Given the description of an element on the screen output the (x, y) to click on. 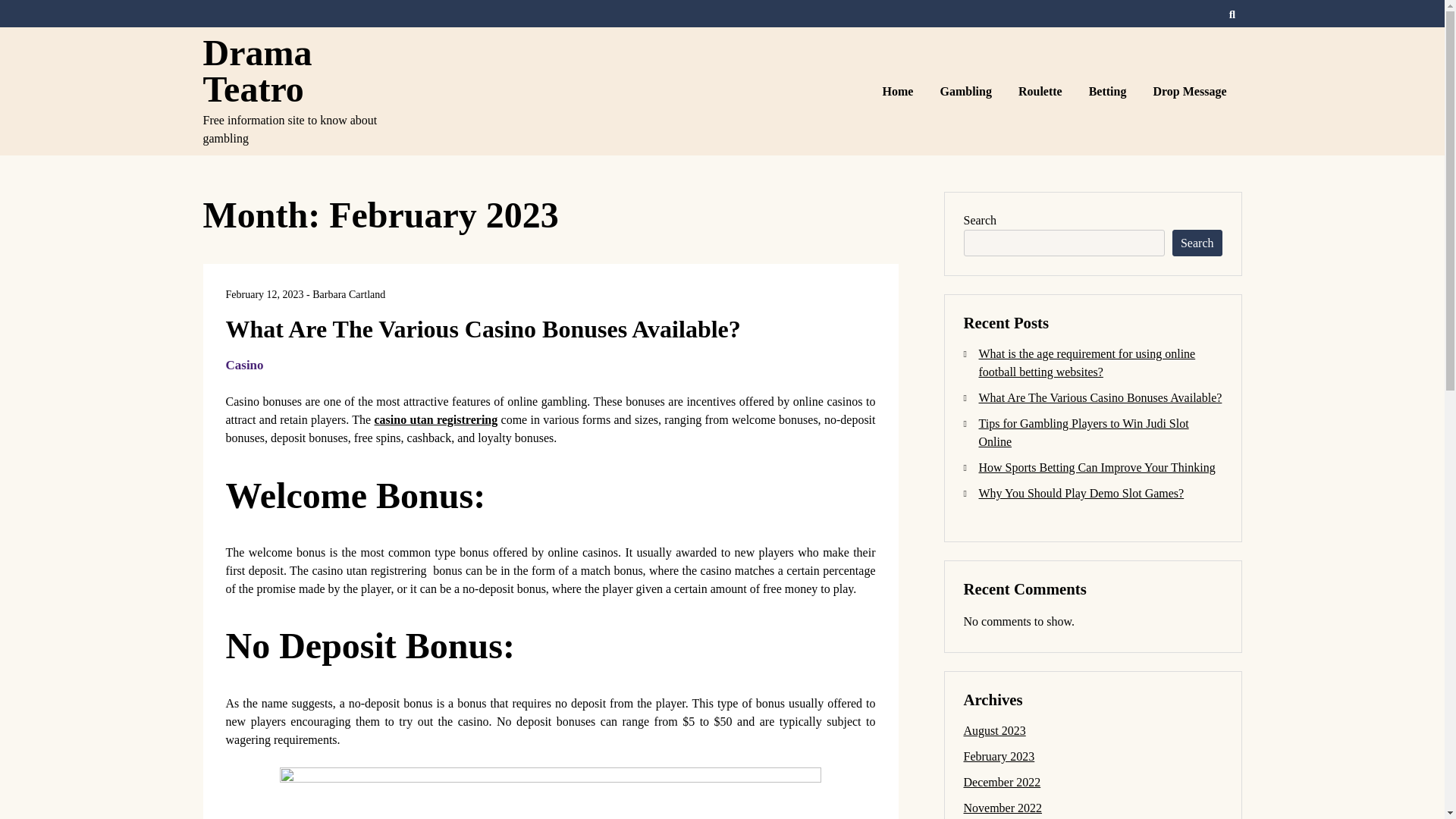
Home (899, 90)
February 2023 (997, 756)
Tips for Gambling Players to Win Judi Slot Online (1083, 431)
Betting (1109, 90)
Gambling (967, 90)
August 2023 (993, 730)
What Are The Various Casino Bonuses Available? (483, 329)
Why You Should Play Demo Slot Games? (1080, 492)
Search (1197, 243)
Drop Message (1191, 90)
November 2022 (1002, 807)
How Sports Betting Can Improve Your Thinking (1096, 467)
casino utan registrering (435, 419)
December 2022 (1001, 781)
